Given the description of an element on the screen output the (x, y) to click on. 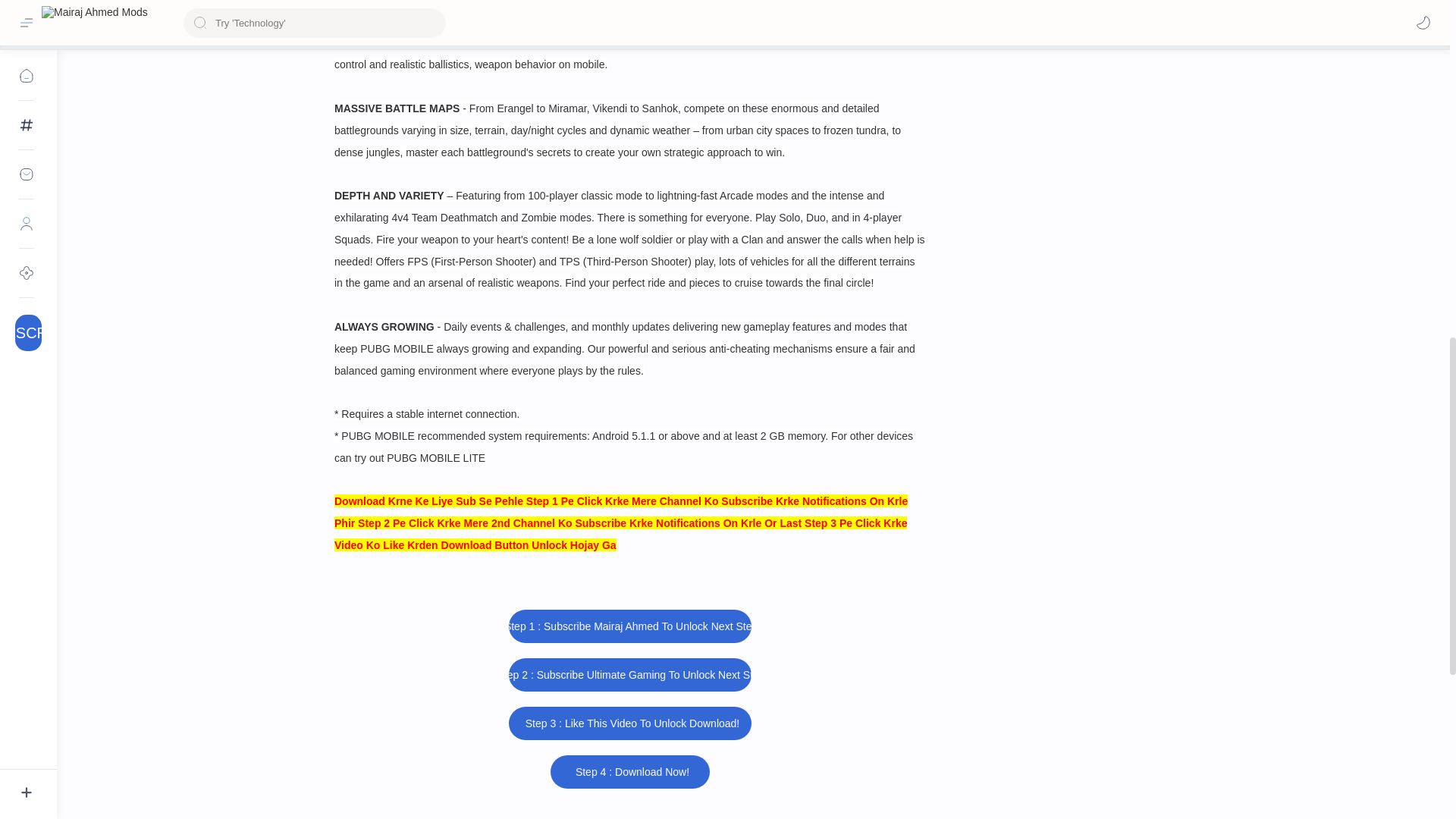
Step 1 : Subscribe Mairaj Ahmed To Unlock Next Step! (629, 625)
Step 4 : Download Now! (630, 771)
Step 3 : Like This Video To Unlock Download! (629, 723)
Step 2 : Subscribe Ultimate Gaming To Unlock Next Step! (629, 674)
